Given the description of an element on the screen output the (x, y) to click on. 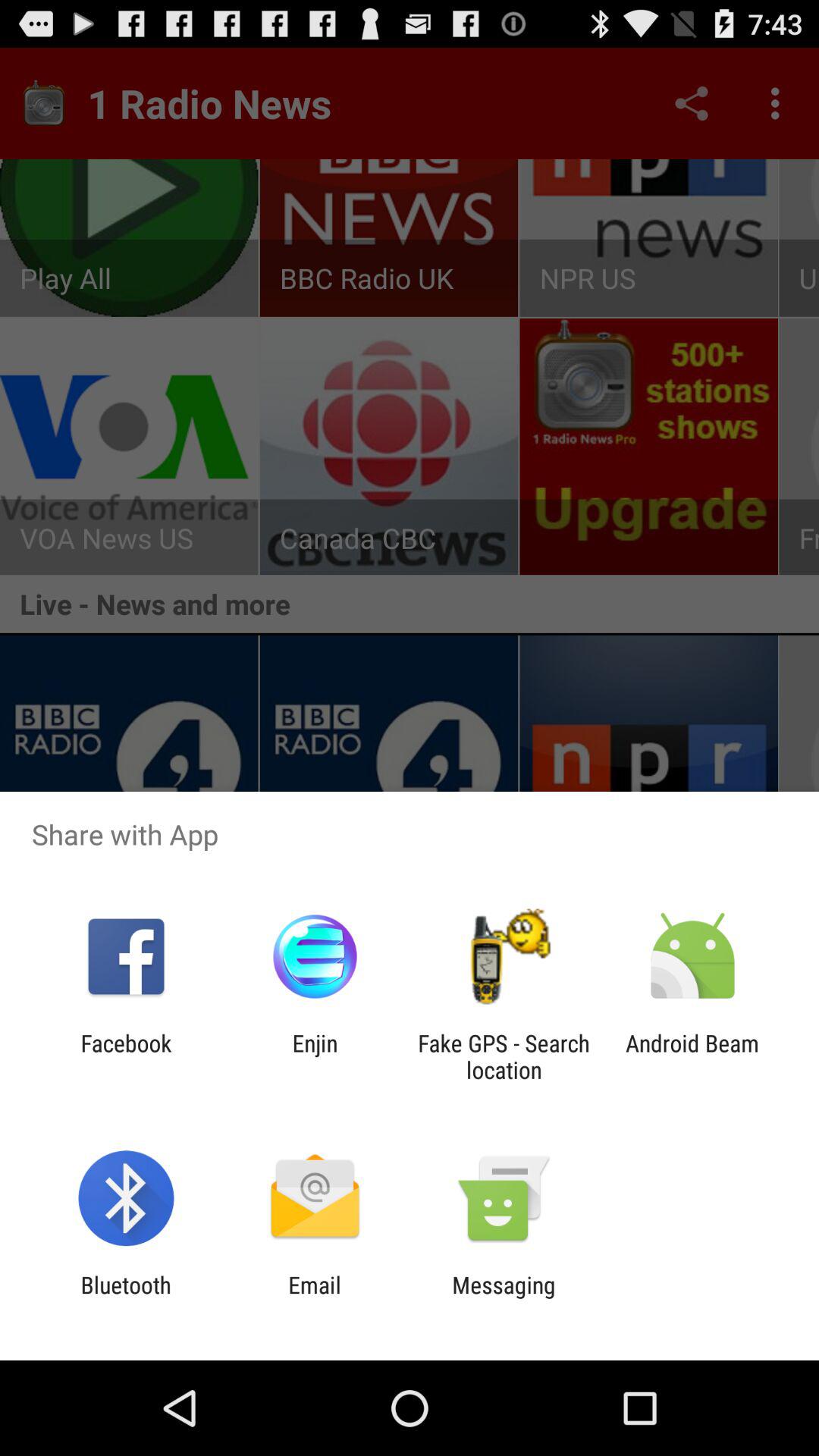
turn on the app to the right of email icon (503, 1298)
